Given the description of an element on the screen output the (x, y) to click on. 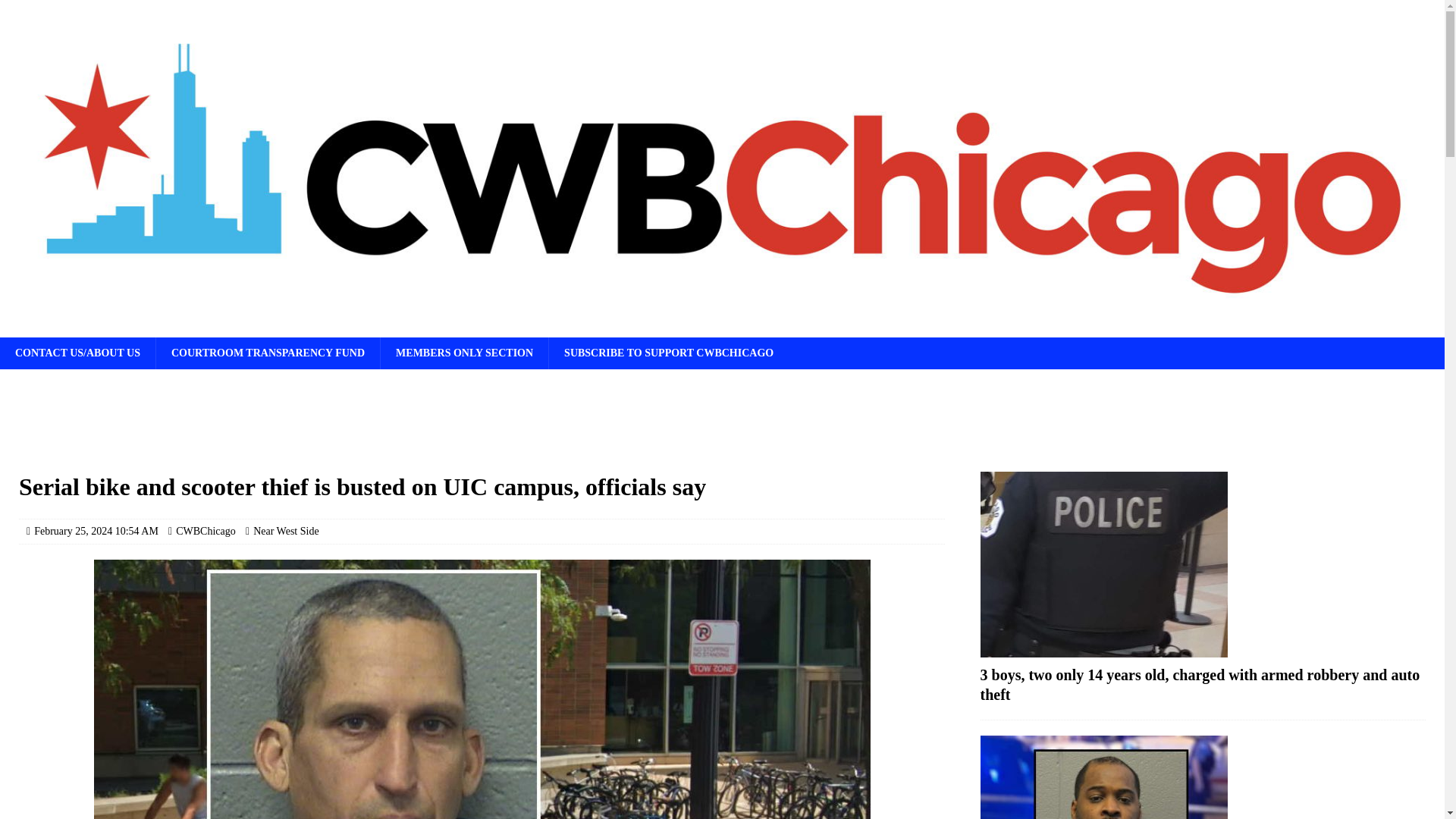
COURTROOM TRANSPARENCY FUND (267, 353)
Near West Side (285, 531)
February 25, 2024 10:54 AM (95, 531)
MEMBERS ONLY SECTION (464, 353)
CWBChicago (205, 531)
SUBSCRIBE TO SUPPORT CWBCHICAGO (668, 353)
